Given the description of an element on the screen output the (x, y) to click on. 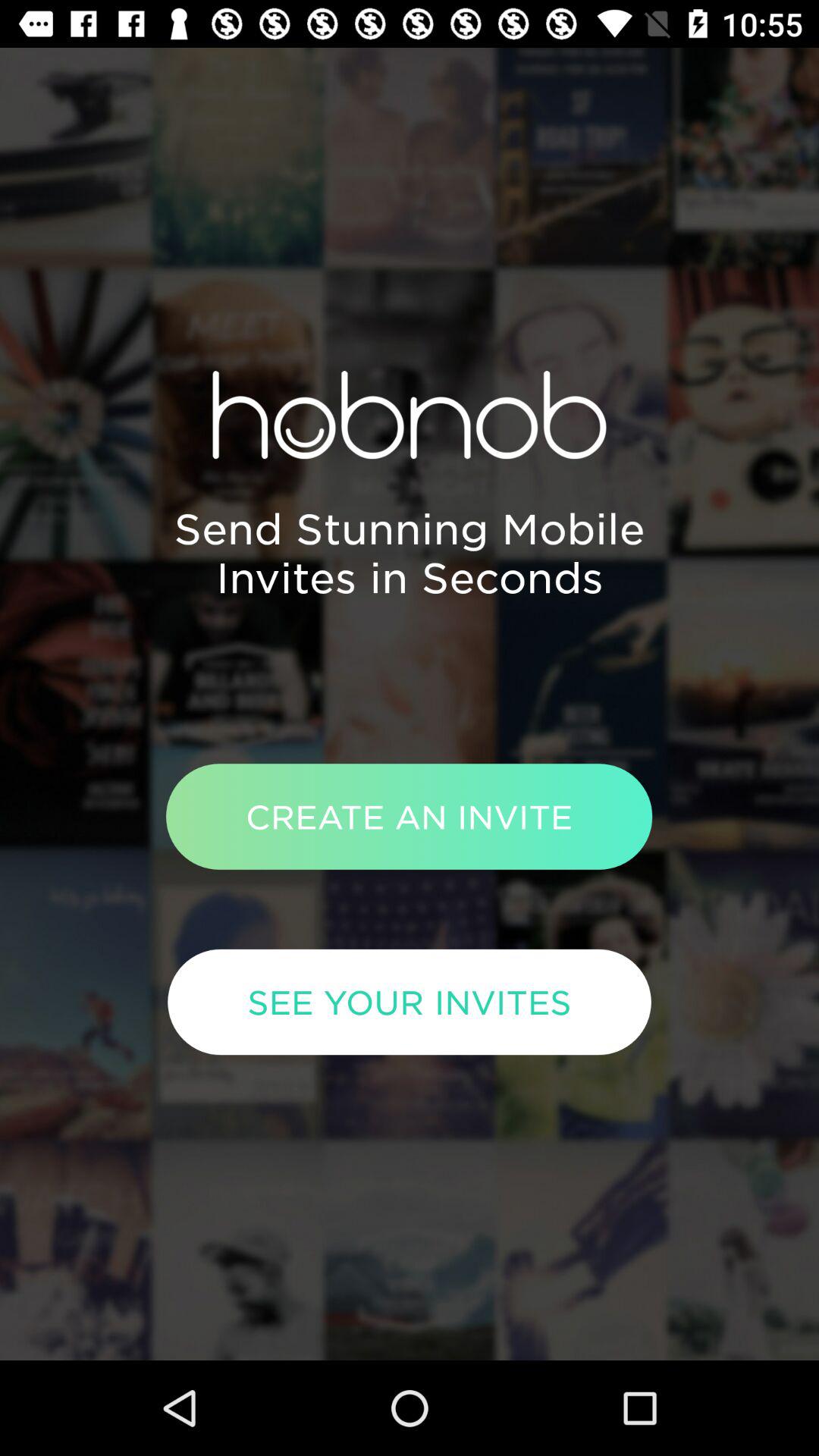
turn on see your invites item (409, 1002)
